Given the description of an element on the screen output the (x, y) to click on. 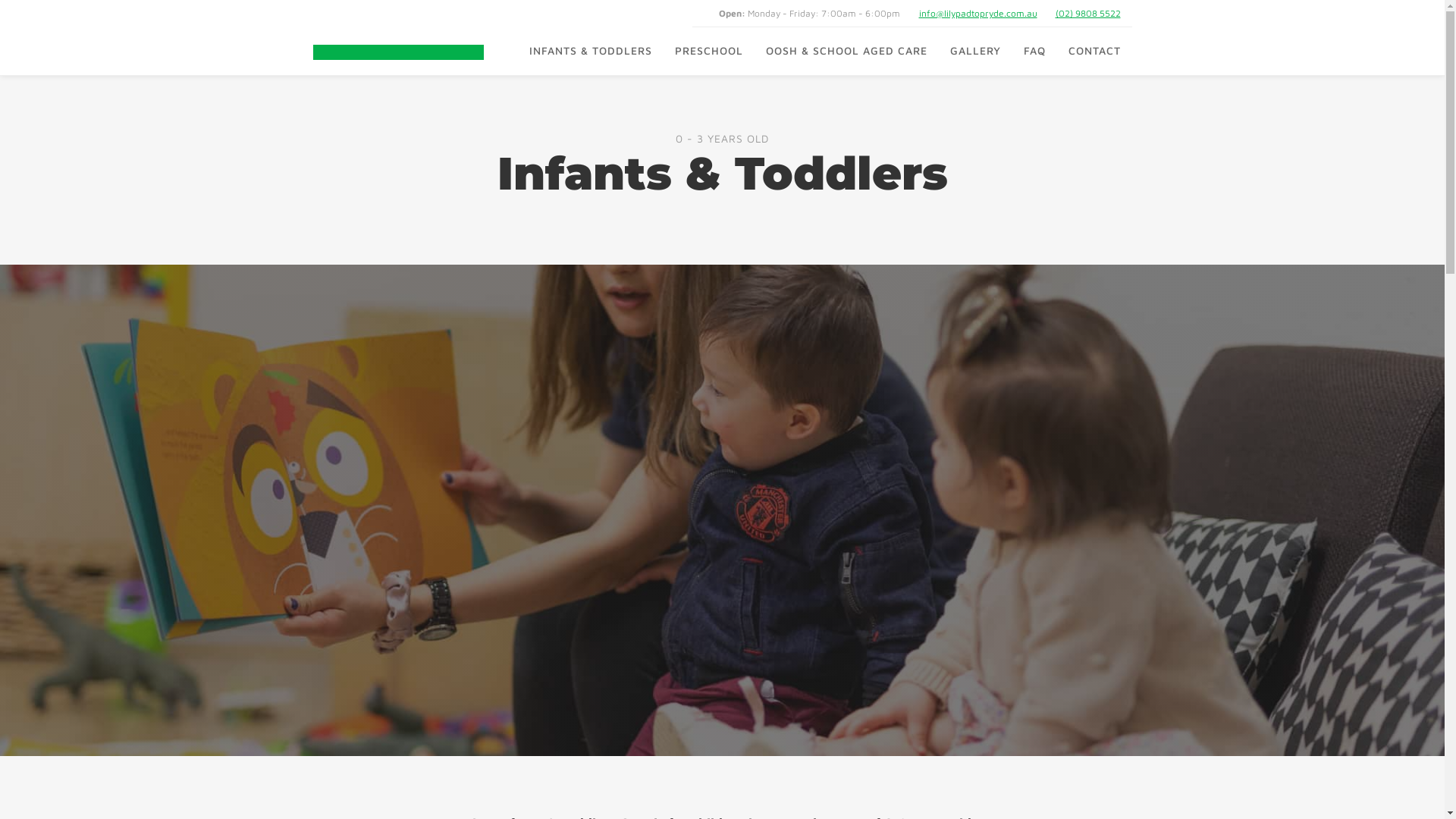
FAQ Element type: text (1033, 50)
CONTACT Element type: text (1094, 50)
GALLERY Element type: text (975, 50)
OOSH & SCHOOL AGED CARE Element type: text (845, 50)
PRESCHOOL Element type: text (707, 50)
INFANTS & TODDLERS Element type: text (589, 50)
info@lilypadtopryde.com.au Element type: text (978, 13)
(02) 9808 5522 Element type: text (1087, 13)
